Given the description of an element on the screen output the (x, y) to click on. 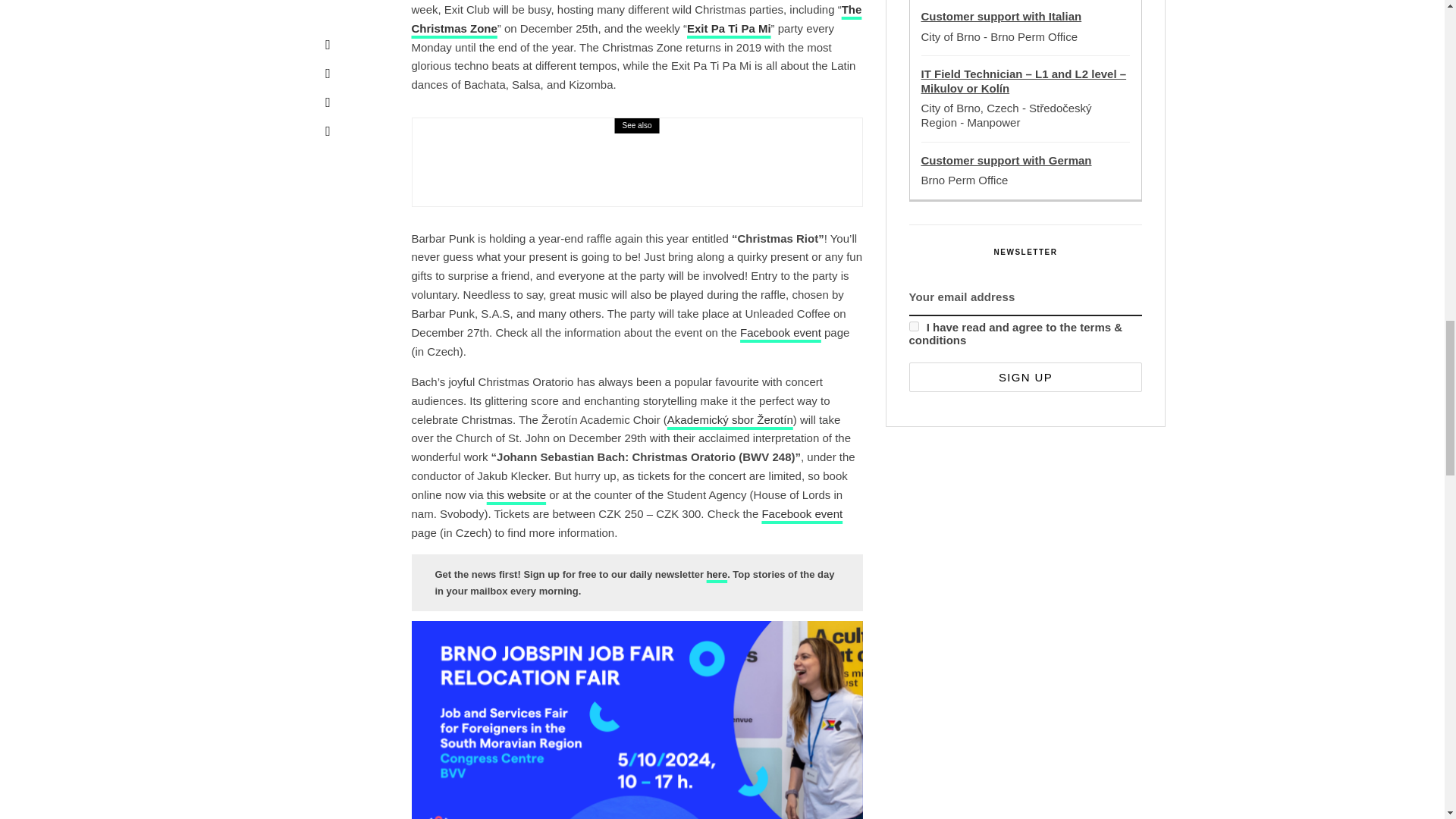
1 (913, 326)
Sign up (1024, 377)
